Given the description of an element on the screen output the (x, y) to click on. 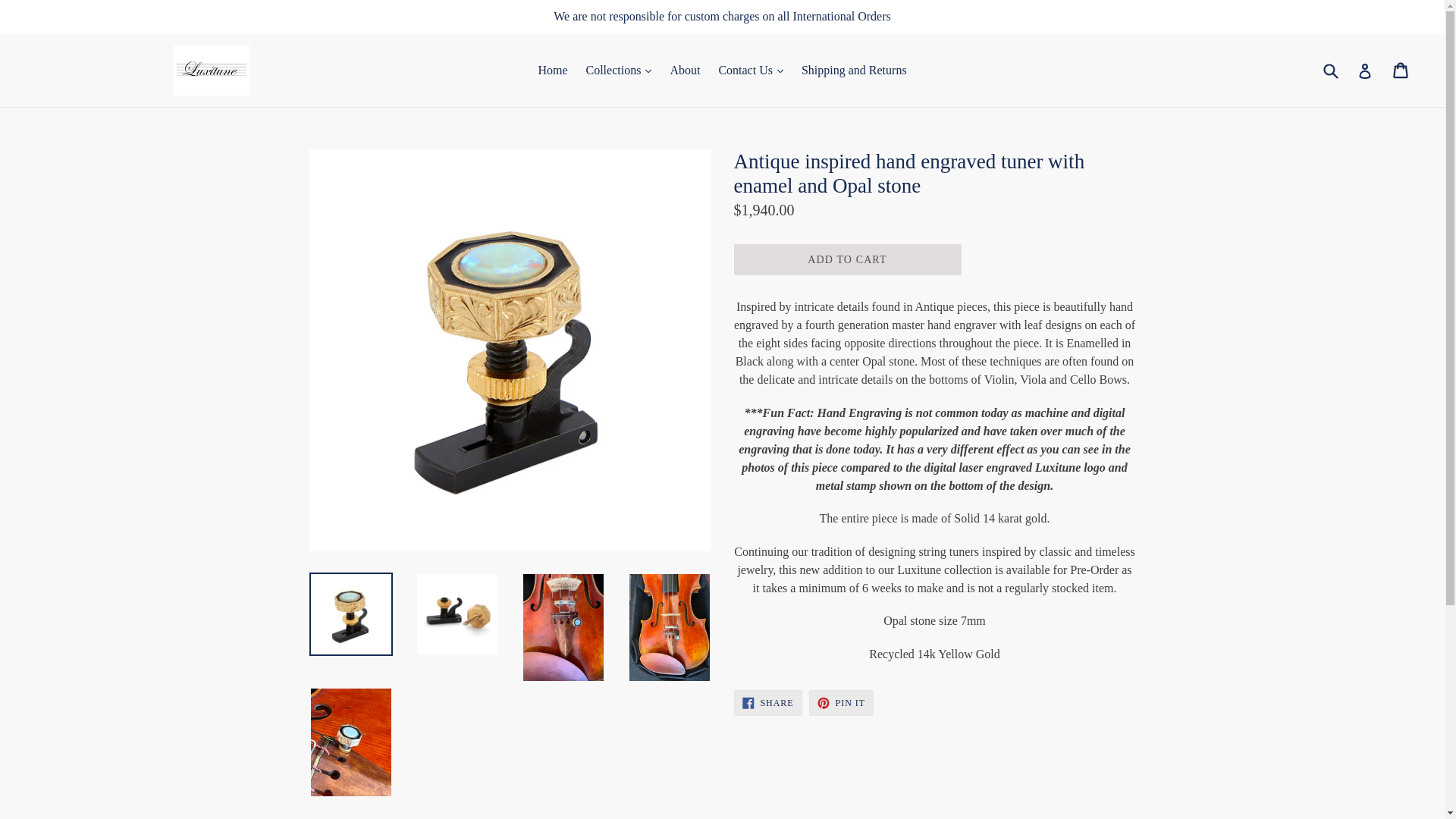
Share on Facebook (767, 702)
About (684, 69)
Log in (1364, 69)
Home (552, 69)
Pin on Pinterest (841, 702)
Shipping and Returns (1401, 70)
Submit (853, 69)
